Given the description of an element on the screen output the (x, y) to click on. 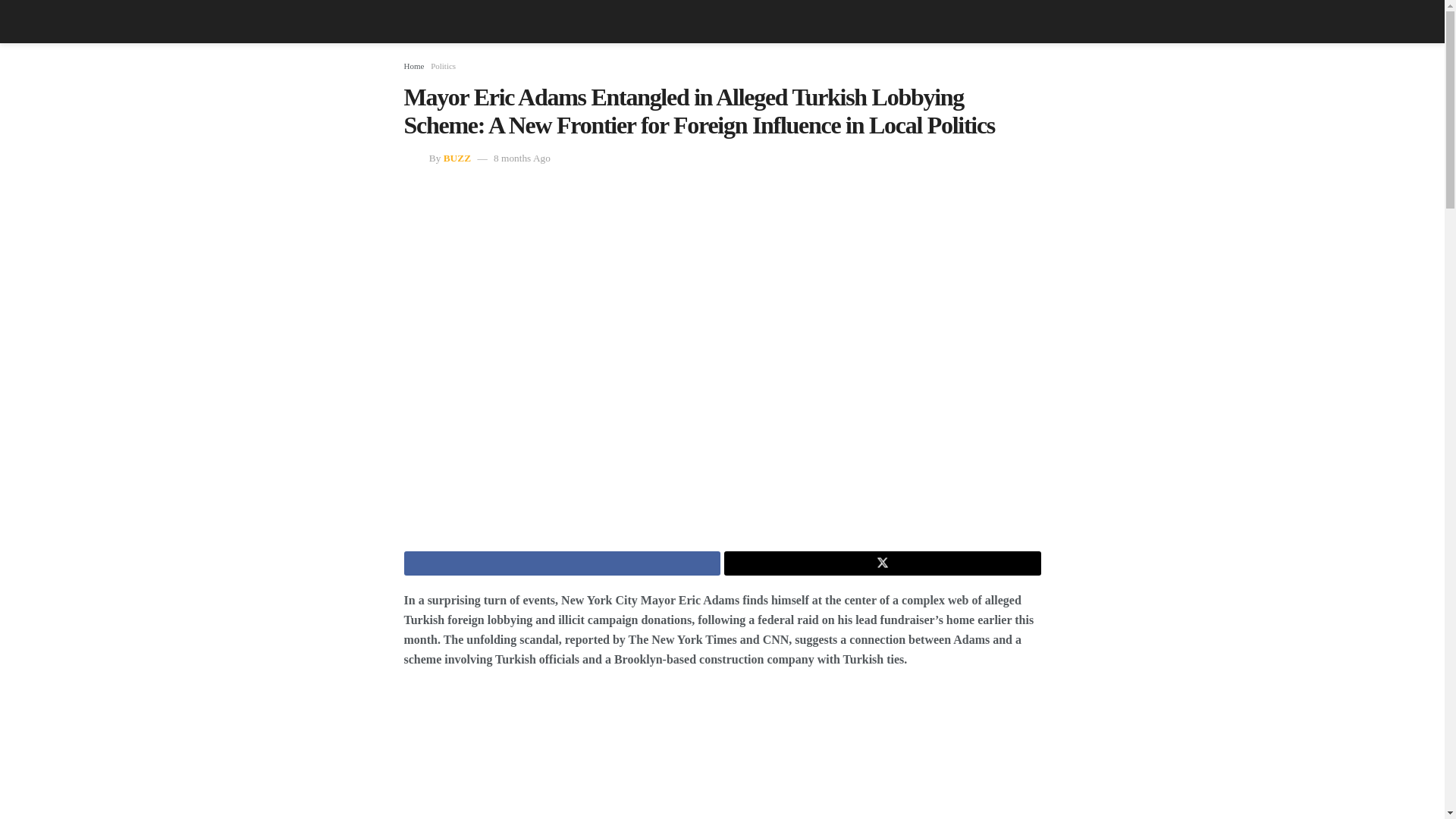
Home (413, 65)
BUZZ (457, 157)
Politics (442, 65)
